Given the description of an element on the screen output the (x, y) to click on. 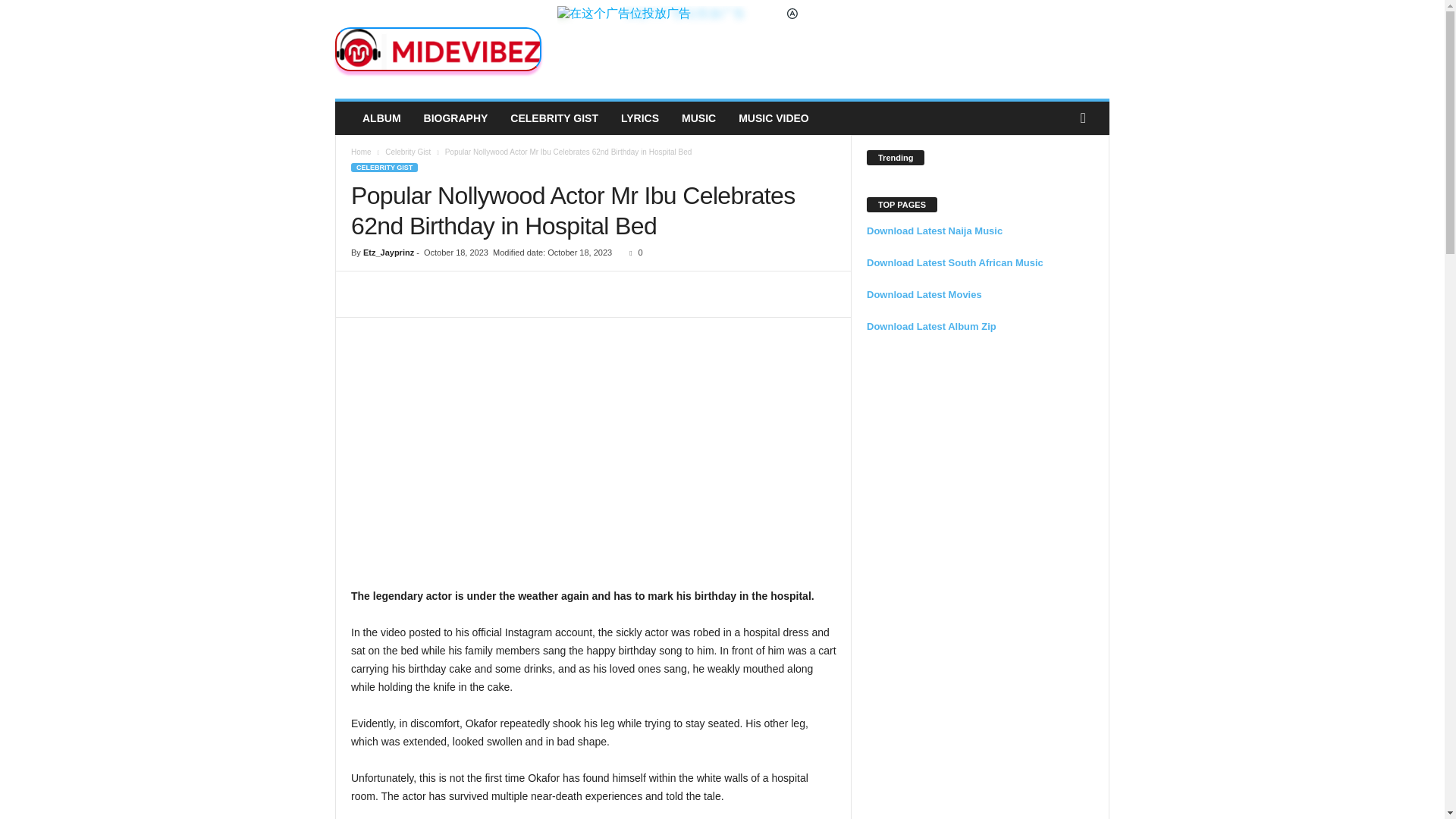
MideVibez (437, 48)
LYRICS (639, 118)
BIOGRAPHY (455, 118)
MUSIC (697, 118)
ALBUM (381, 118)
CELEBRITY GIST (554, 118)
View all posts in Celebrity Gist (407, 152)
